Given the description of an element on the screen output the (x, y) to click on. 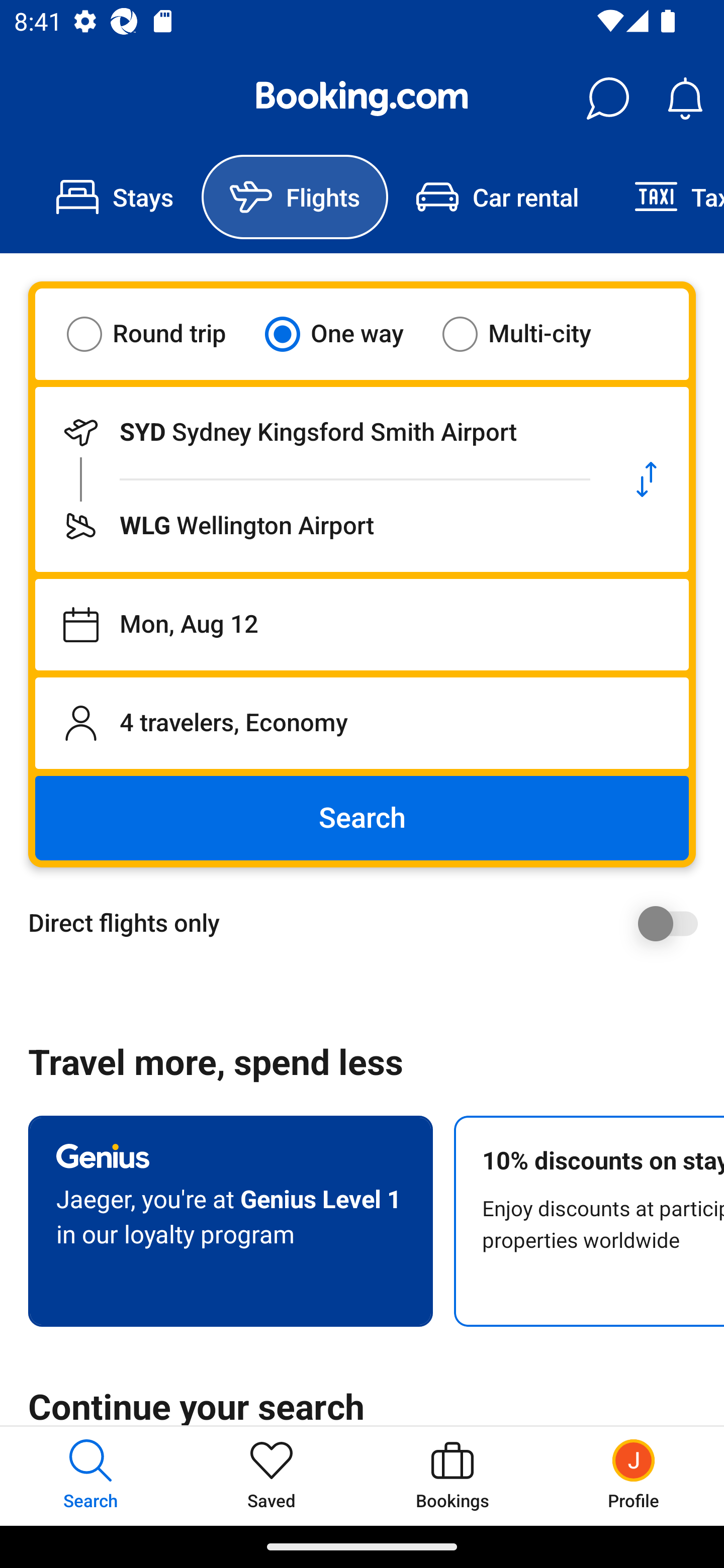
Messages (607, 98)
Notifications (685, 98)
Stays (114, 197)
Flights (294, 197)
Car rental (497, 197)
Taxi (665, 197)
Round trip (158, 333)
Multi-city (528, 333)
Departing from SYD Sydney Kingsford Smith Airport (319, 432)
Swap departure location and destination (646, 479)
Flying to WLG Wellington Airport (319, 525)
Departing on Mon, Aug 12 (361, 624)
4 travelers, Economy (361, 722)
Search (361, 818)
Direct flights only (369, 923)
Saved (271, 1475)
Bookings (452, 1475)
Profile (633, 1475)
